Given the description of an element on the screen output the (x, y) to click on. 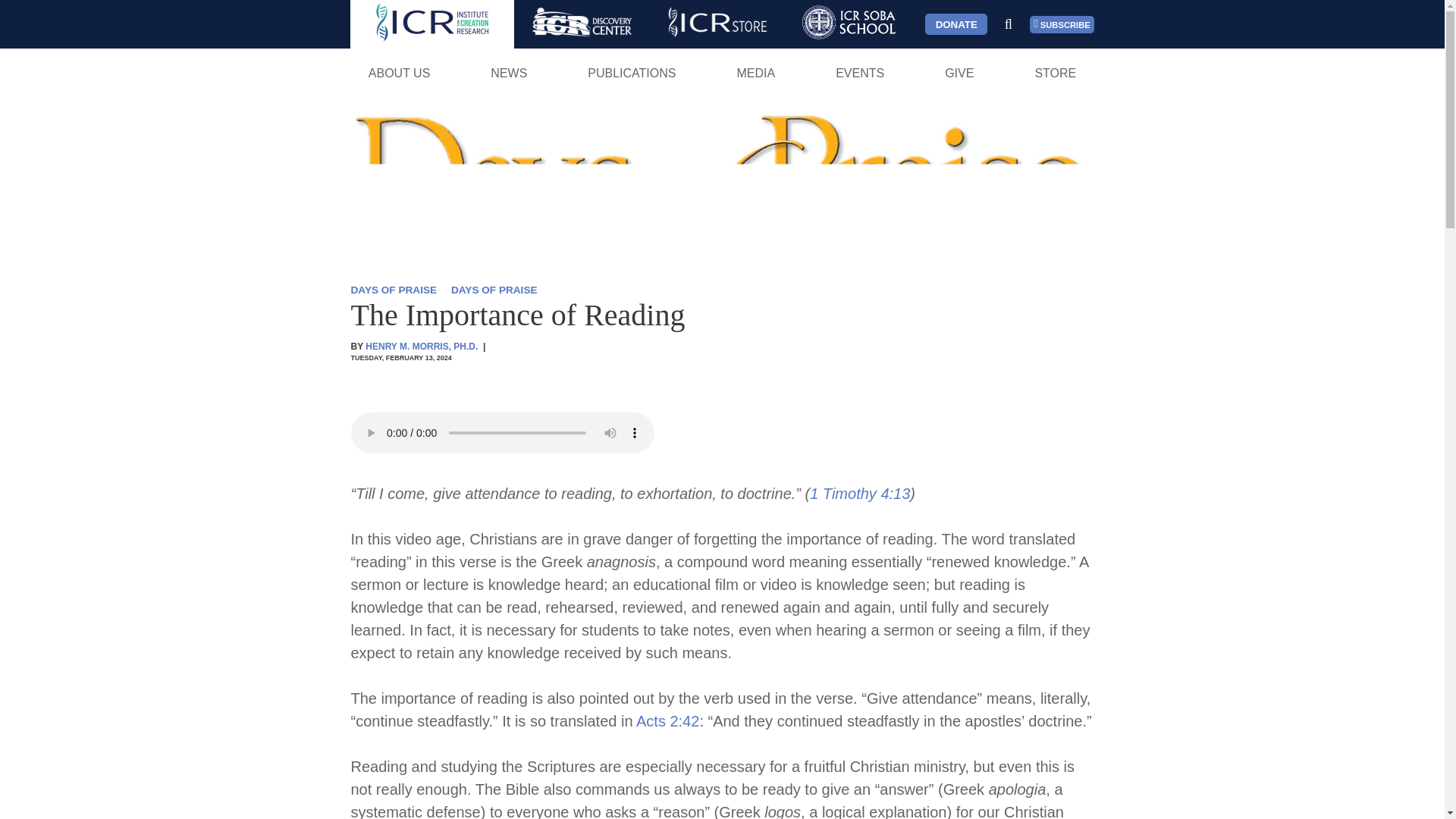
ABOUT US (399, 73)
DONATE (955, 24)
PUBLICATIONS (631, 73)
NEWS (508, 73)
SUBSCRIBE (1061, 24)
